Given the description of an element on the screen output the (x, y) to click on. 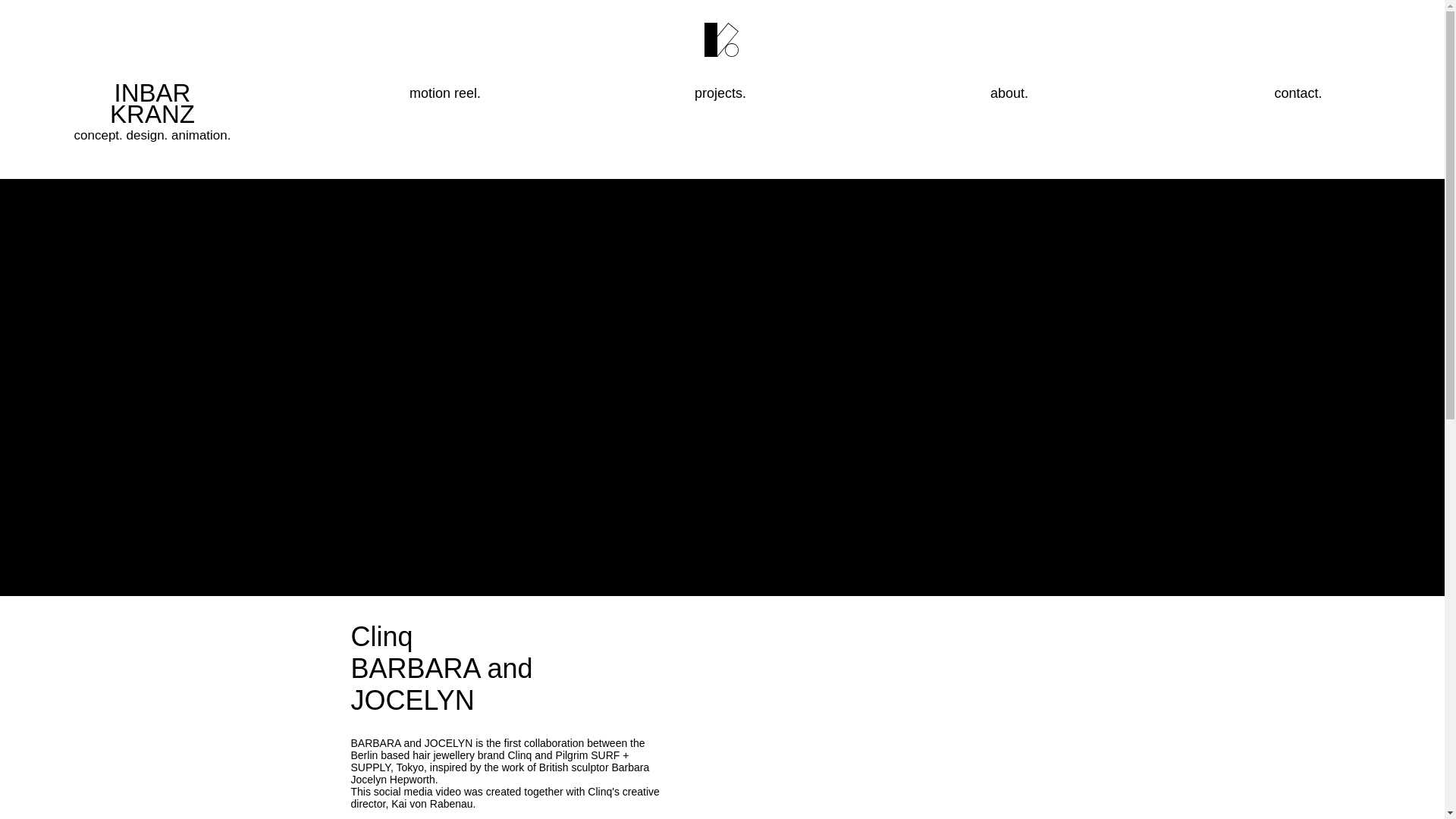
motion reel. (152, 115)
projects. (446, 93)
contact. (721, 93)
about. (1299, 93)
